Given the description of an element on the screen output the (x, y) to click on. 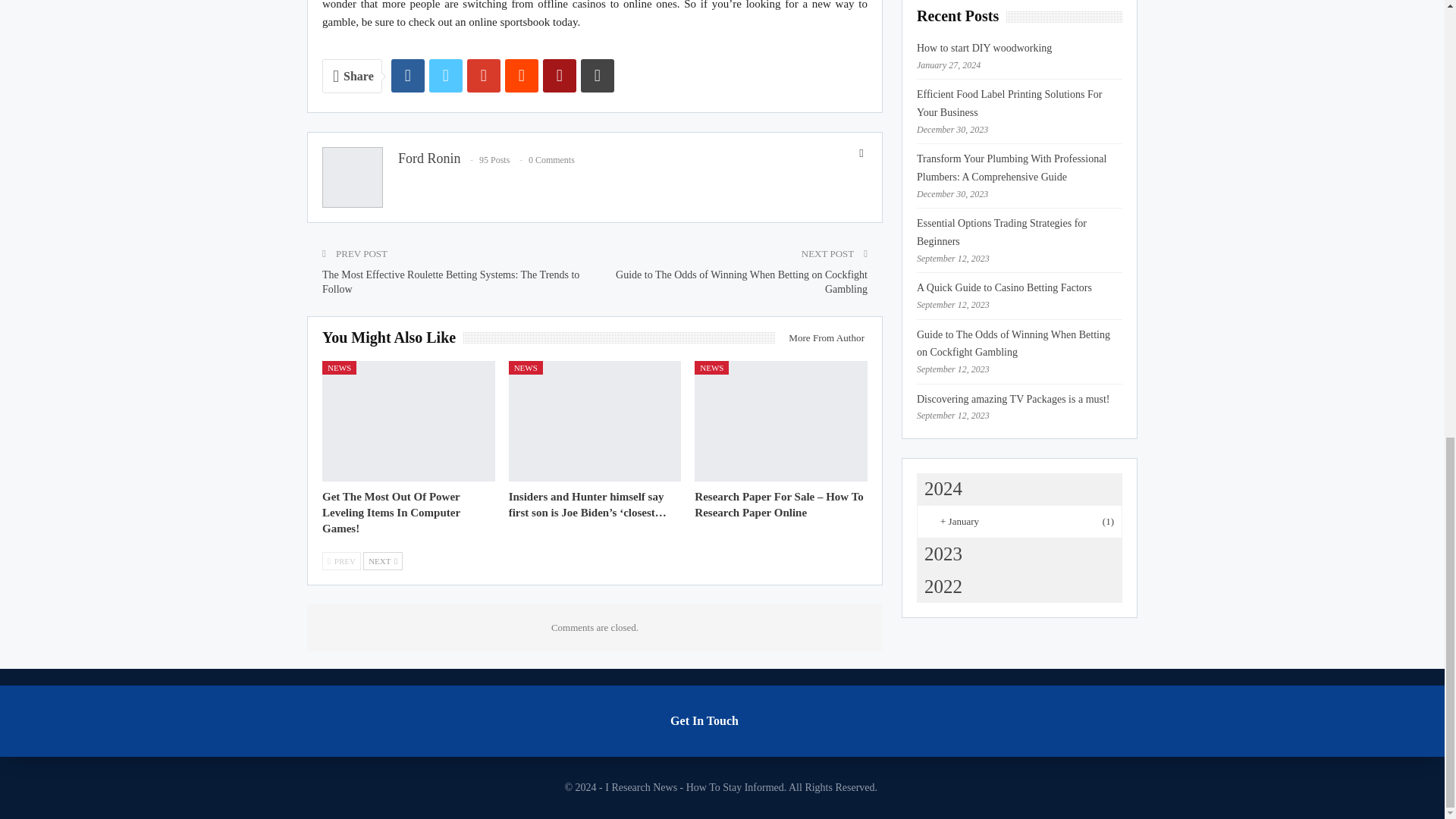
Next (382, 561)
Previous (341, 561)
Get The Most Out Of Power Leveling Items In Computer Games! (408, 421)
Get The Most Out Of Power Leveling Items In Computer Games! (390, 512)
